Given the description of an element on the screen output the (x, y) to click on. 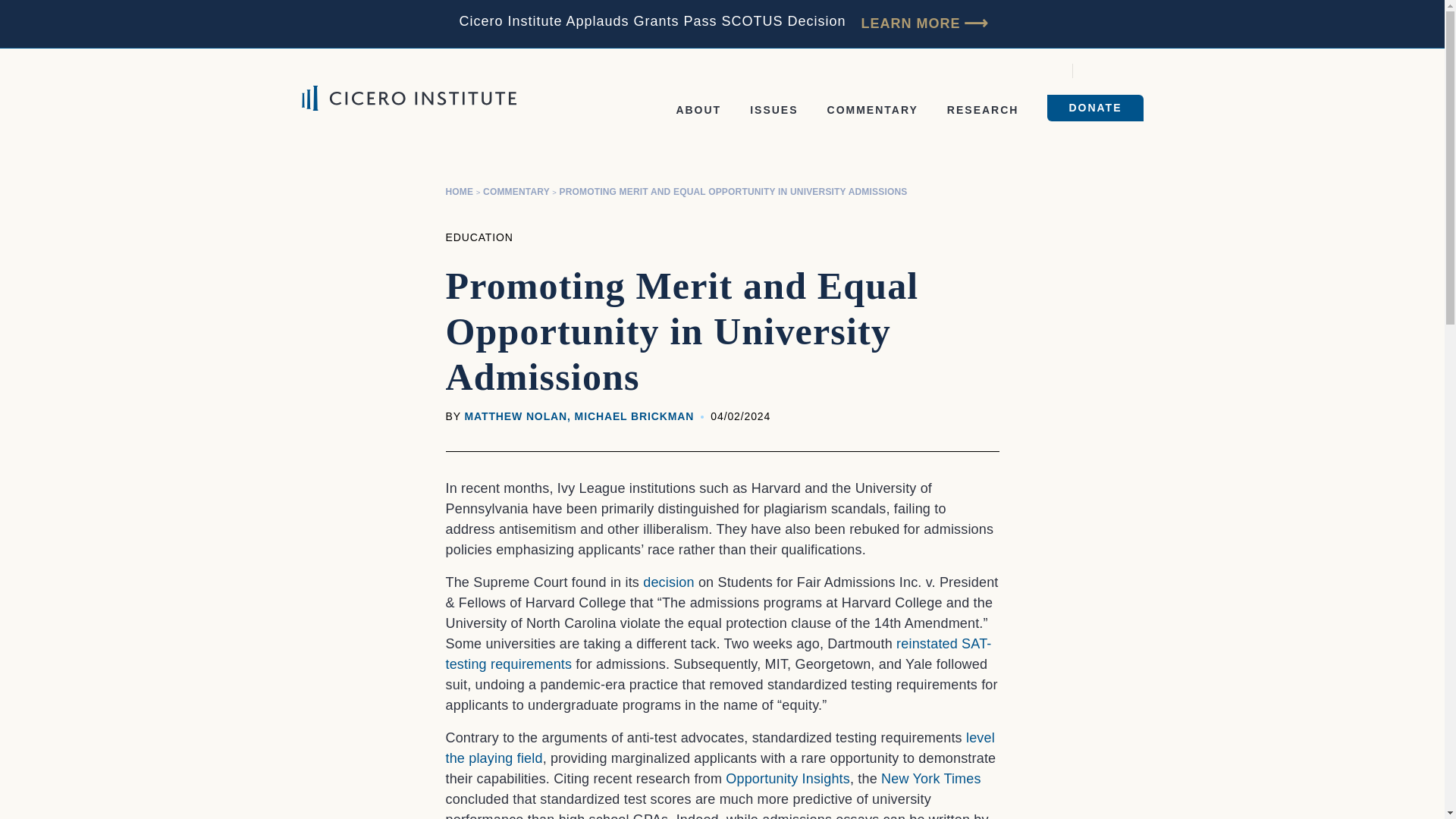
level the playing field (719, 747)
RESEARCH (983, 110)
reinstated SAT-testing requirements (718, 653)
HOME (459, 191)
Opportunity Insights (787, 778)
EDUCATION (479, 236)
decision (668, 581)
New York Times (930, 778)
ABOUT (697, 110)
MATTHEW NOLAN (515, 416)
